Given the description of an element on the screen output the (x, y) to click on. 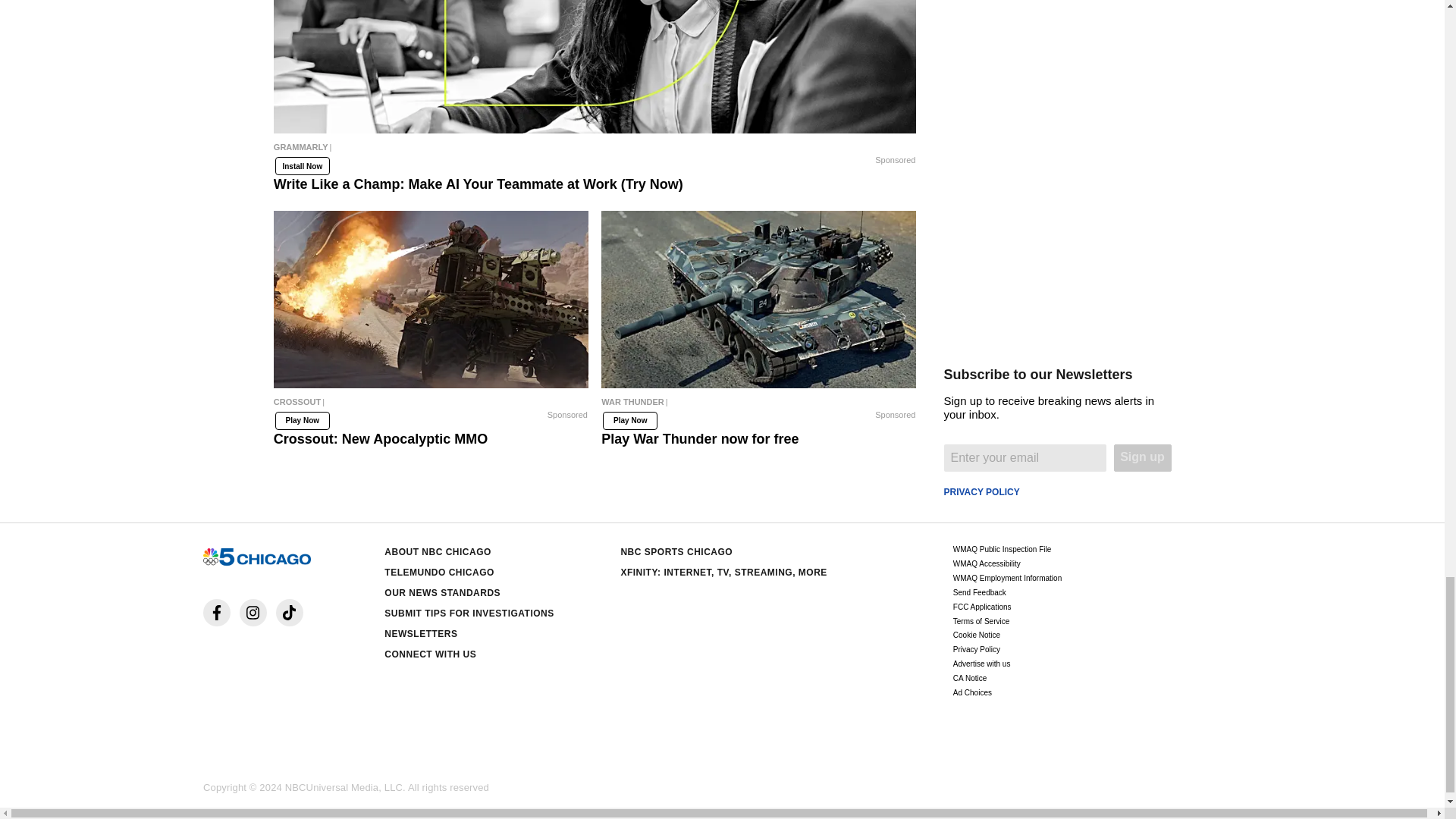
Crossout: New Apocalyptic MMO (430, 405)
Play War Thunder now for free (758, 405)
